Given the description of an element on the screen output the (x, y) to click on. 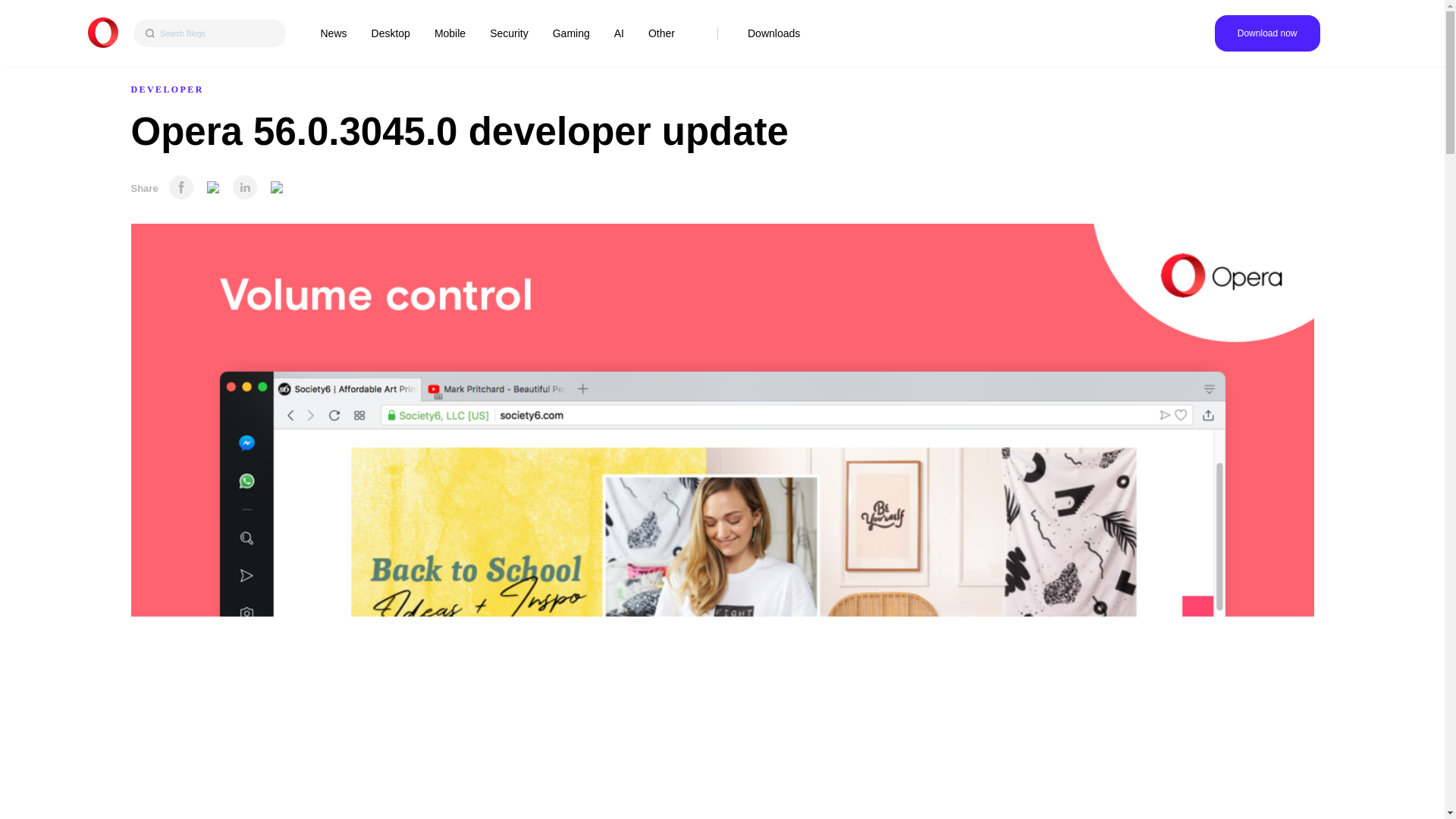
News (333, 32)
Desktop (390, 32)
Gaming (571, 32)
Download now (1267, 33)
DEVELOPER (167, 89)
Other (661, 32)
Mobile (449, 32)
Downloads (773, 32)
AI (619, 32)
Security (508, 32)
